Given the description of an element on the screen output the (x, y) to click on. 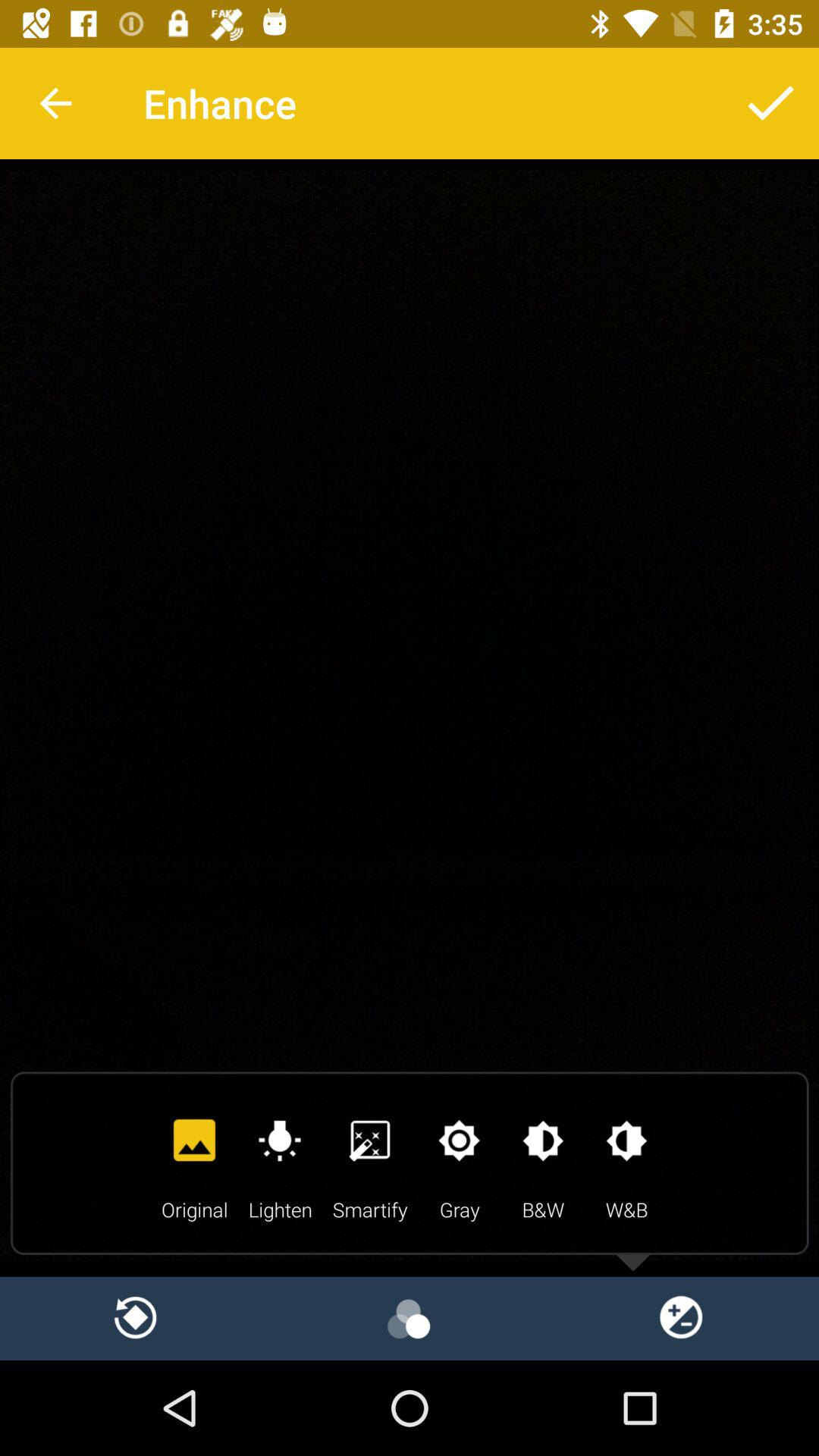
confirm selected (771, 103)
